Given the description of an element on the screen output the (x, y) to click on. 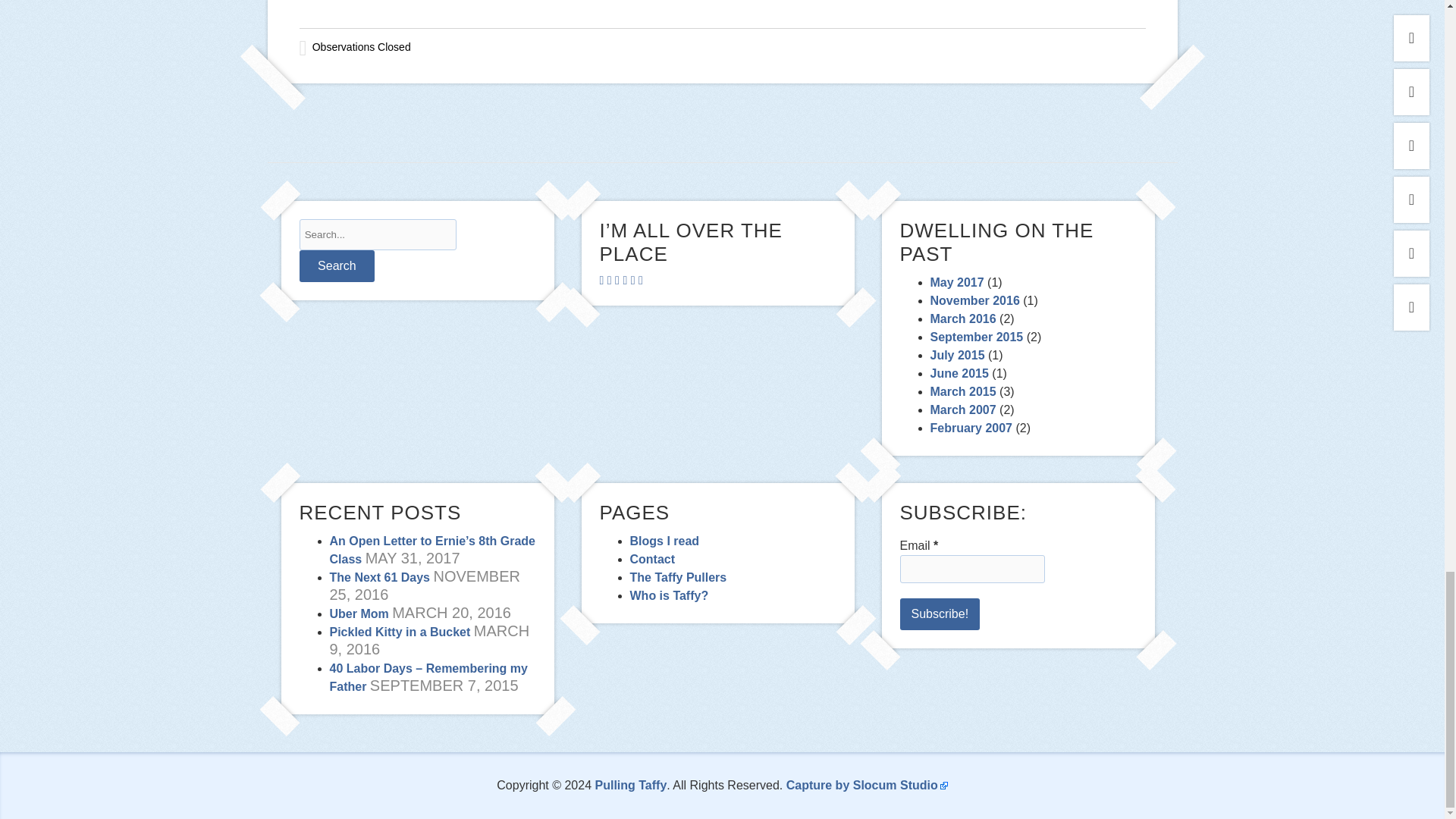
Email (971, 569)
Search (336, 265)
Subscribe! (939, 613)
